Given the description of an element on the screen output the (x, y) to click on. 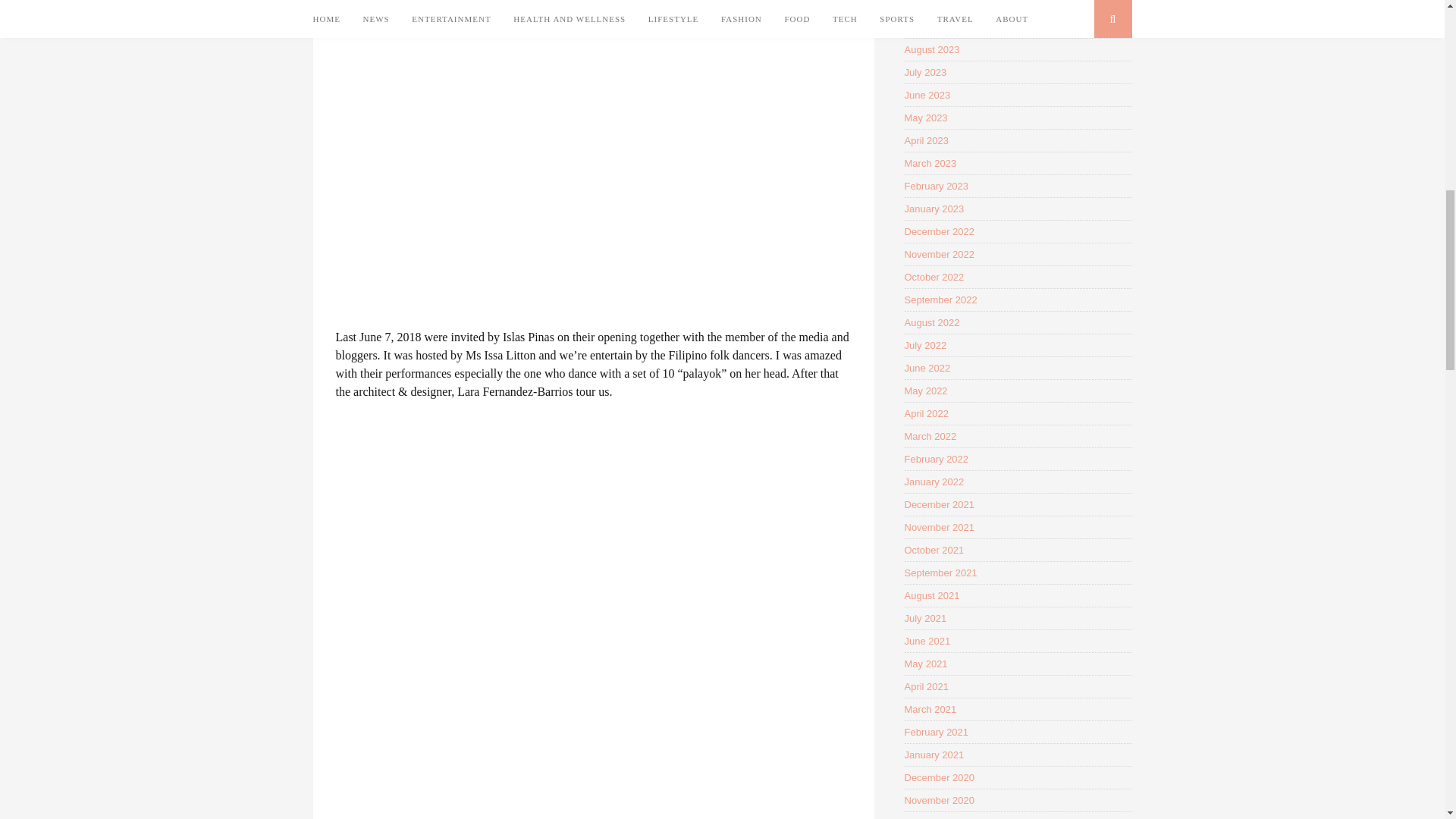
October 2023 (933, 4)
